Given the description of an element on the screen output the (x, y) to click on. 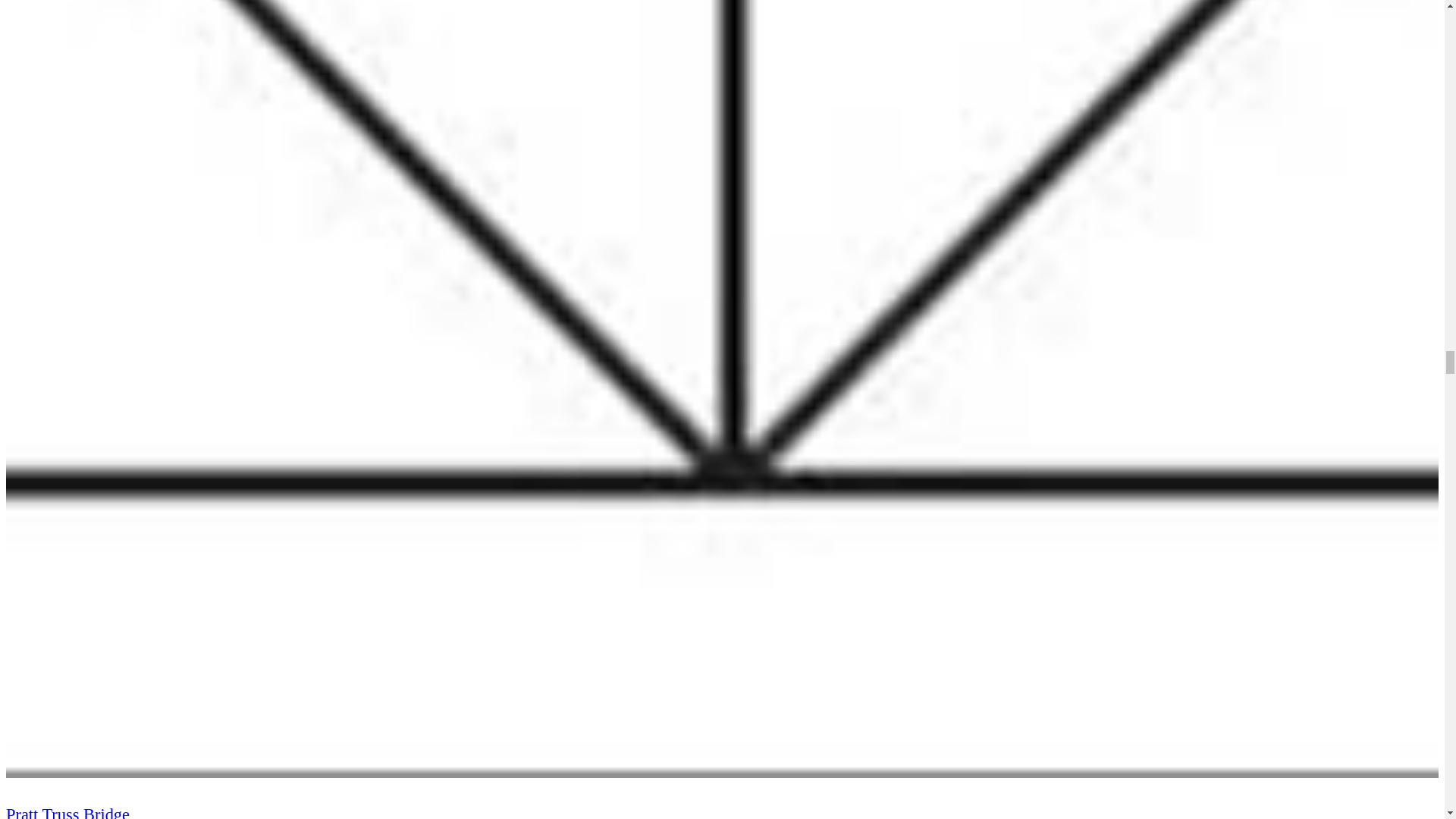
Pratt Truss Bridge (67, 812)
